Given the description of an element on the screen output the (x, y) to click on. 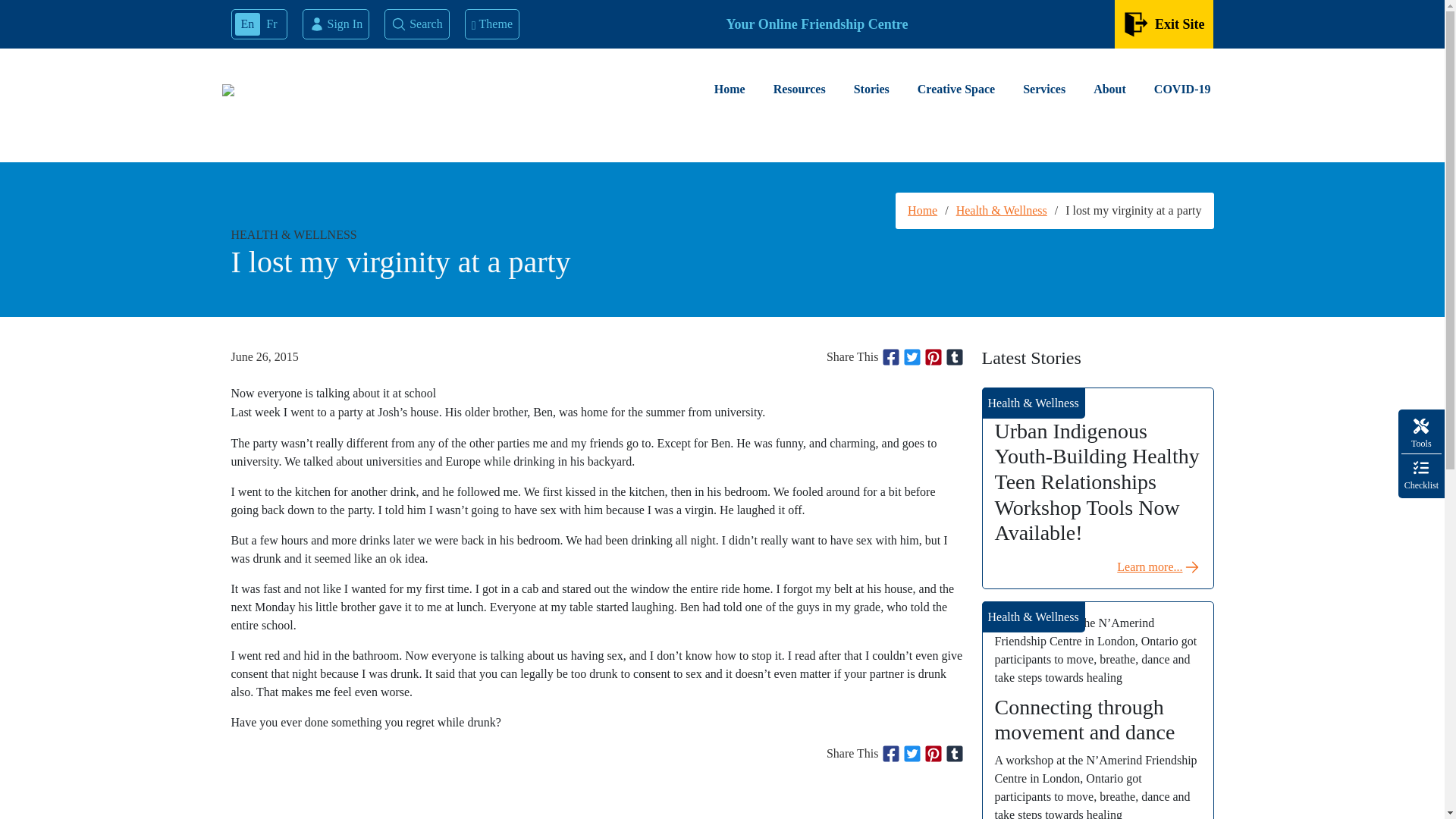
Exit Site (1164, 24)
Creative Space (956, 89)
Switch to English (247, 24)
Theme (491, 24)
Search (416, 24)
Home (729, 89)
Stories (871, 89)
En (247, 24)
About (1109, 89)
Services (1043, 89)
Resources (799, 89)
COVID-19 (1182, 89)
Sign In (335, 24)
Fr (271, 24)
